Given the description of an element on the screen output the (x, y) to click on. 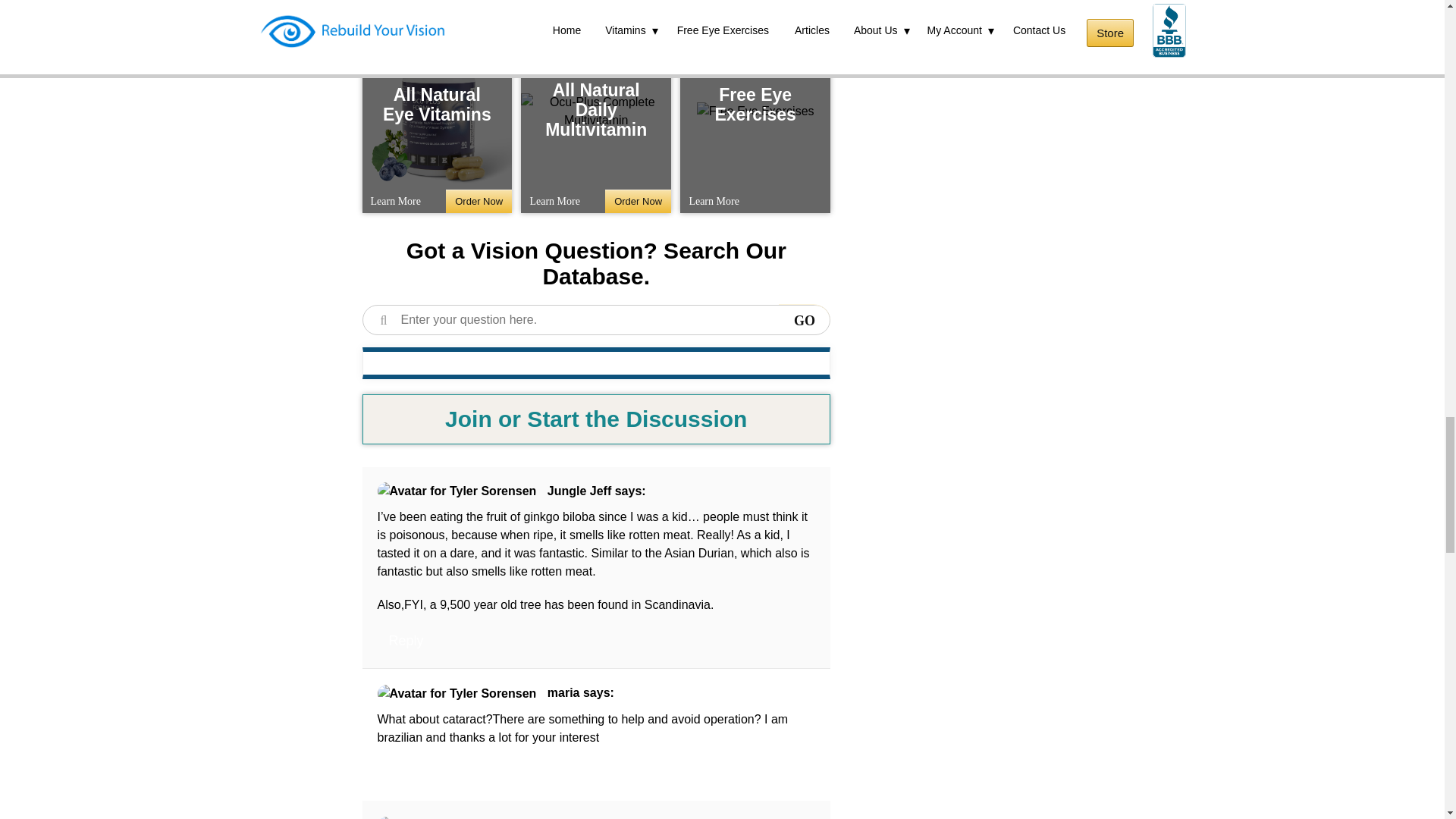
Order Now (478, 200)
Gravatar for Tyler Sorensen (457, 491)
Search for: (596, 319)
Learn More (554, 200)
GO (803, 320)
Gravatar for Tyler Sorensen (457, 817)
Order Now (638, 200)
Learn More (712, 200)
Gravatar for Tyler Sorensen (457, 693)
Learn More (395, 200)
